Given the description of an element on the screen output the (x, y) to click on. 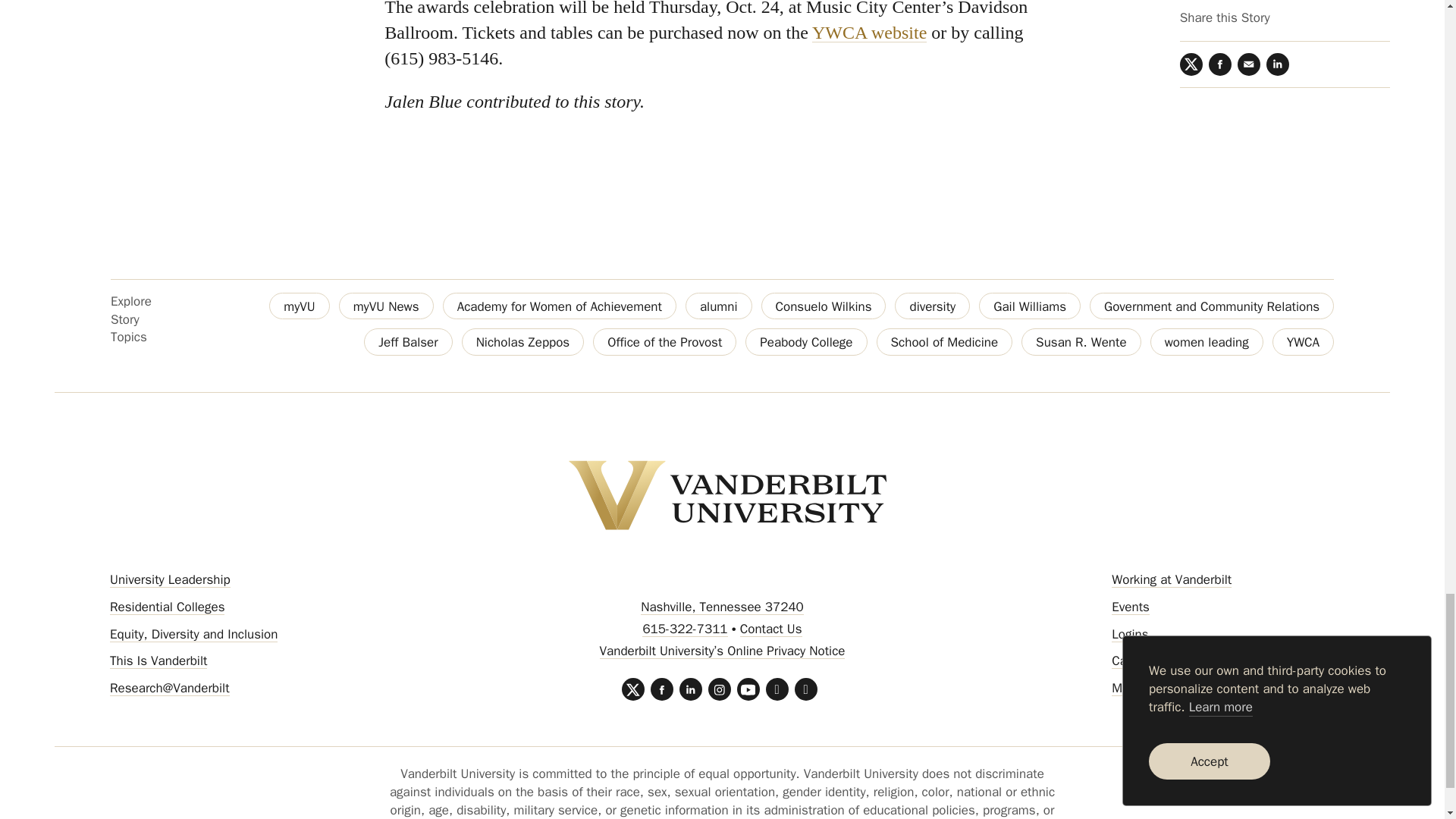
YWCA website (869, 32)
alumni (718, 305)
myVU News (386, 305)
Consuelo Wilkins (823, 305)
diversity (932, 305)
myVU (299, 305)
Academy for Women of Achievement (559, 305)
